Given the description of an element on the screen output the (x, y) to click on. 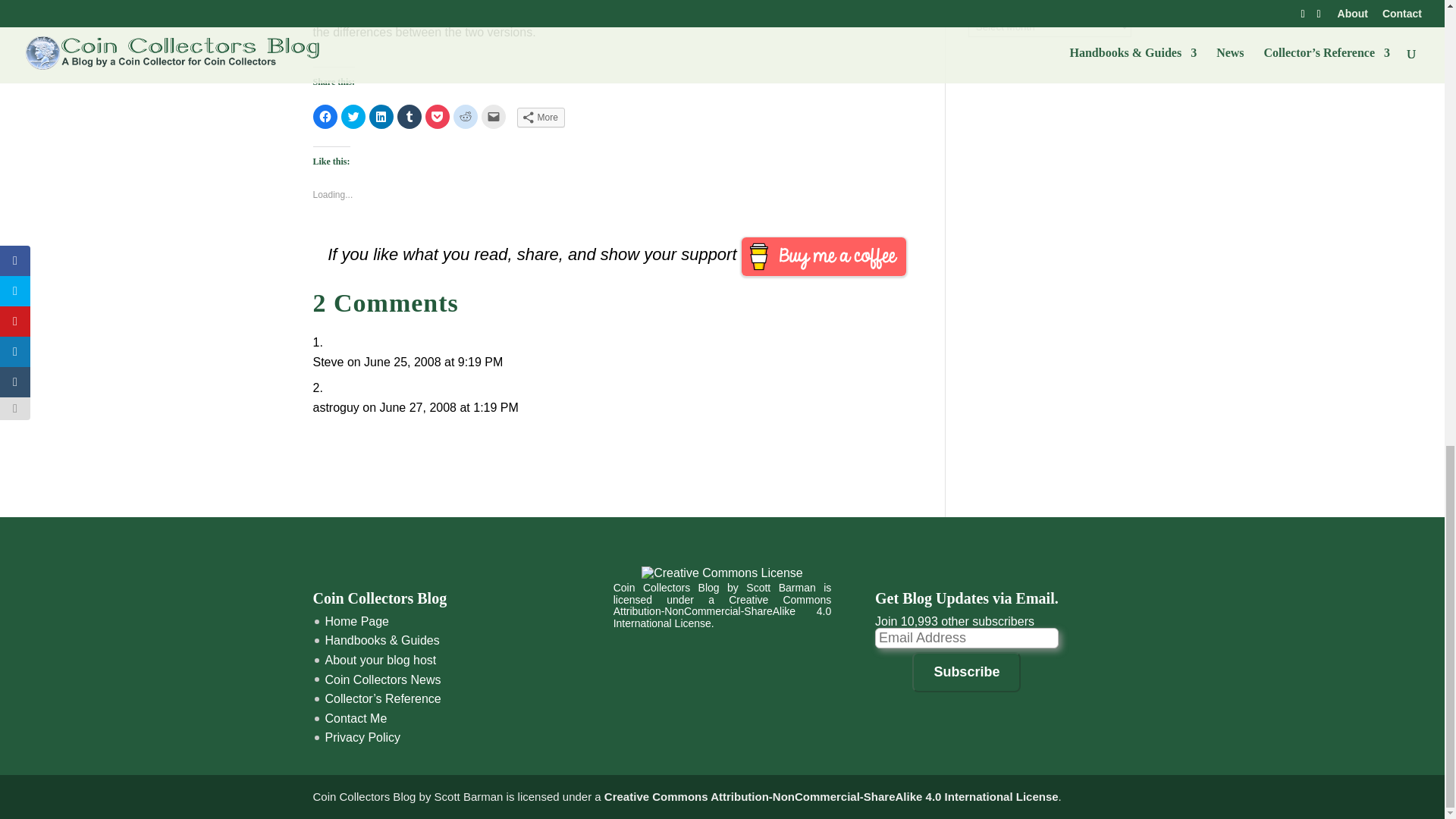
Click to share on Reddit (464, 116)
Click to share on Twitter (352, 116)
Click to email a link to a friend (492, 116)
Click to share on Pocket (436, 116)
Click to share on Tumblr (409, 116)
Click to share on Facebook (324, 116)
Click to share on LinkedIn (380, 116)
